Given the description of an element on the screen output the (x, y) to click on. 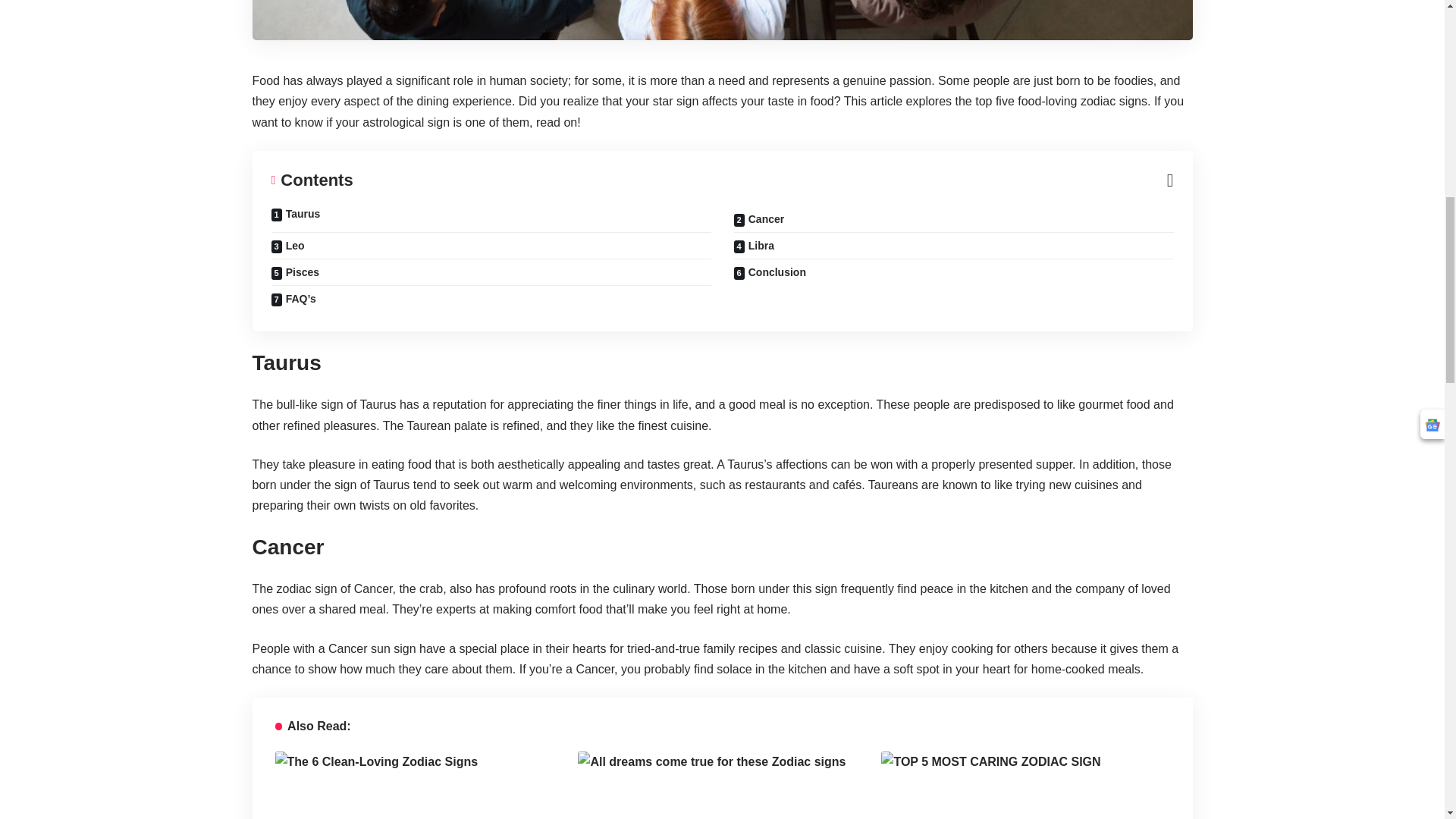
All dreams come true for these Zodiac signs (722, 785)
Taurus (490, 219)
Conclusion (953, 272)
The 6 Clean-Loving Zodiac Signs (418, 785)
Pisces (490, 272)
Cancer (953, 219)
Leo (490, 245)
Libra (953, 245)
TOP 5 MOST CARING ZODIAC SIGN (1024, 785)
